Given the description of an element on the screen output the (x, y) to click on. 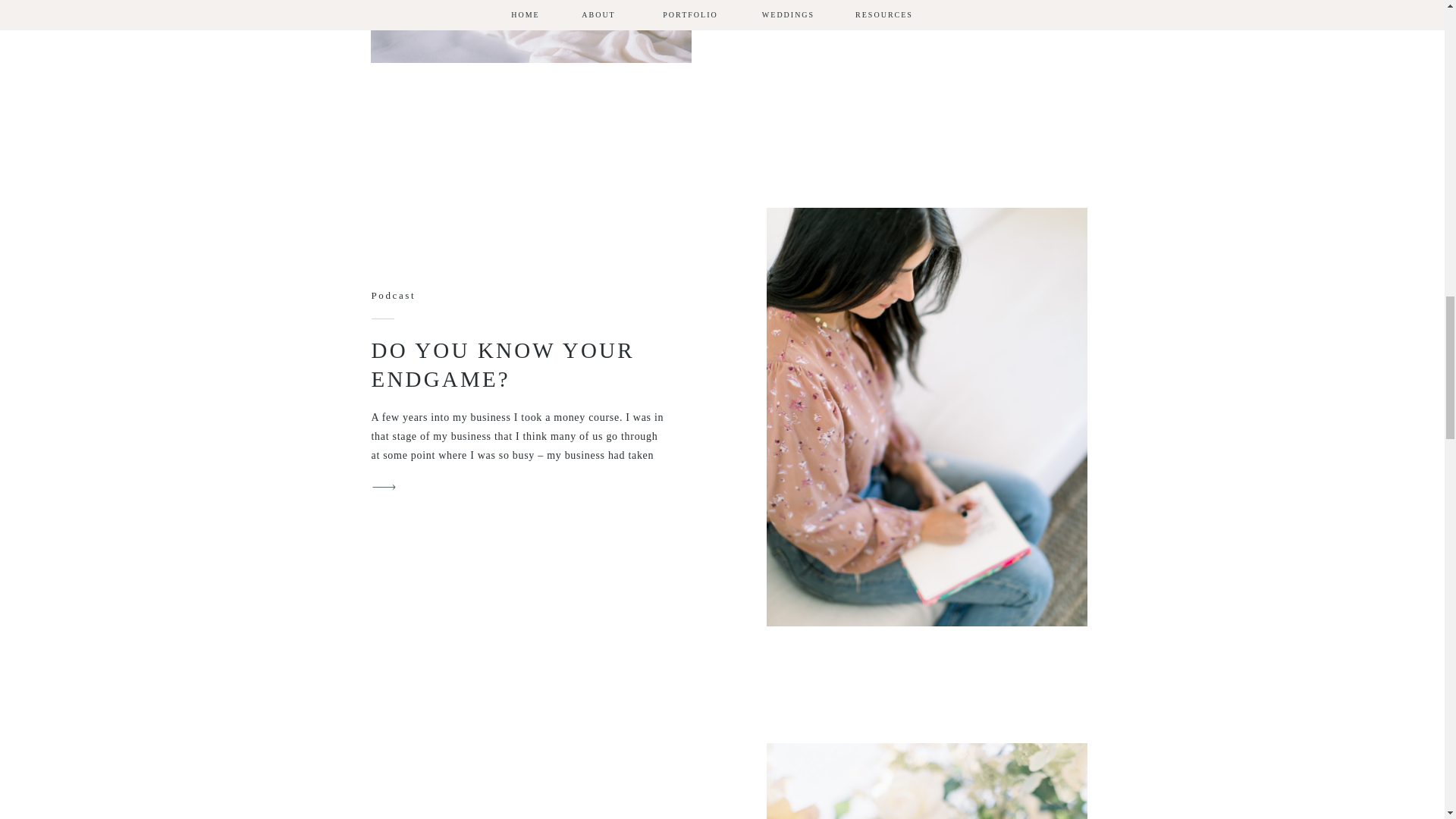
Do You Know Your Endgame? (383, 486)
arrow (383, 486)
Do You Know Your Endgame? (925, 417)
How to Create Romantic and Airy Floral Installations (925, 780)
Portfolio Mastery: Creative Solutions to Propel Your Success (529, 31)
